Given the description of an element on the screen output the (x, y) to click on. 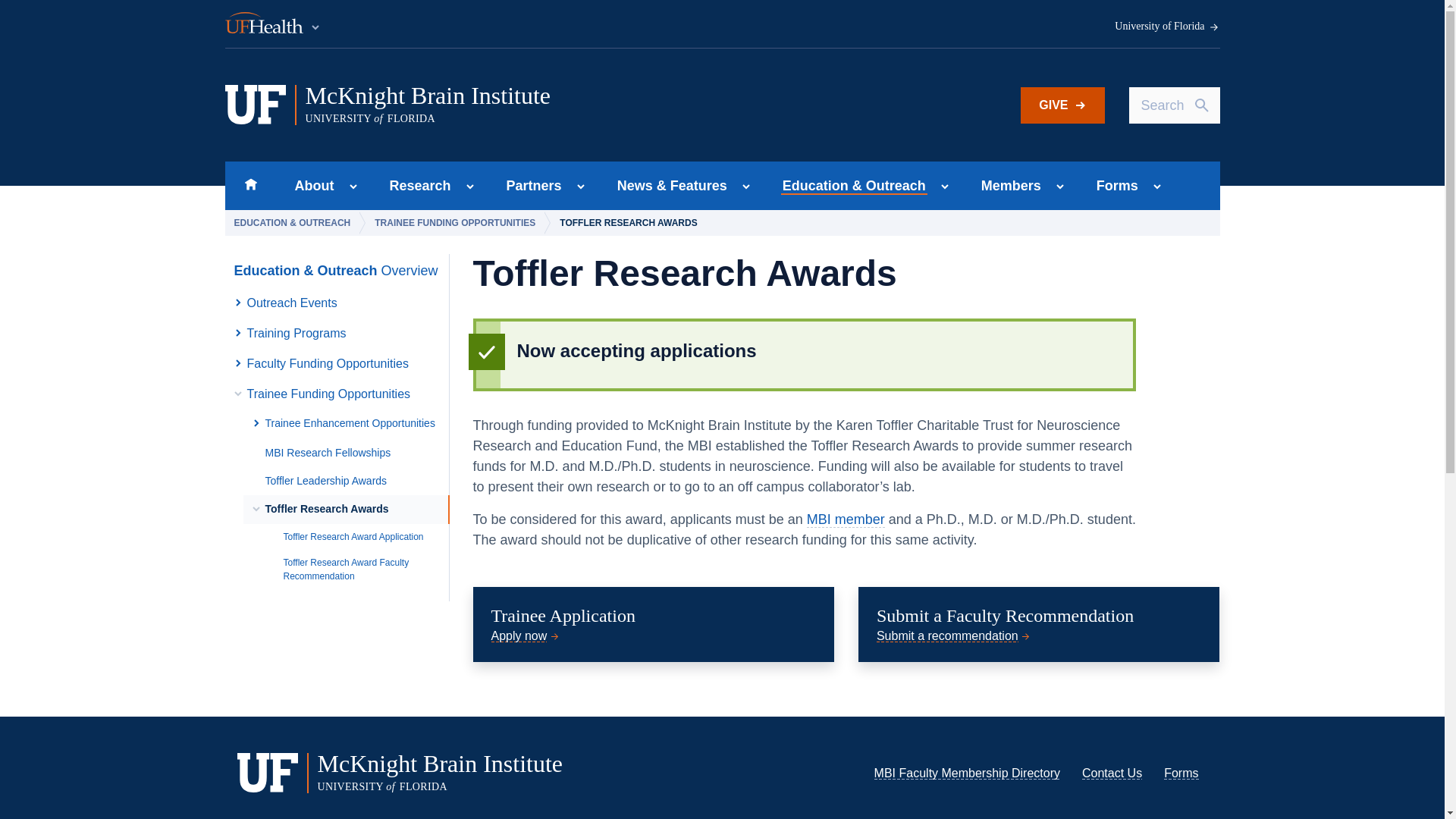
Home (250, 185)
Apply now (527, 635)
Contact Us (1111, 772)
Show submenu for Research (470, 187)
Submit a recommendation (954, 635)
Skip to main content (515, 105)
Show submenu for About (272, 24)
Forms (353, 187)
Research (1180, 772)
MBI Faculty Membership Directory (415, 185)
About (967, 772)
GIVE (309, 185)
Skip to main content (1061, 104)
